Given the description of an element on the screen output the (x, y) to click on. 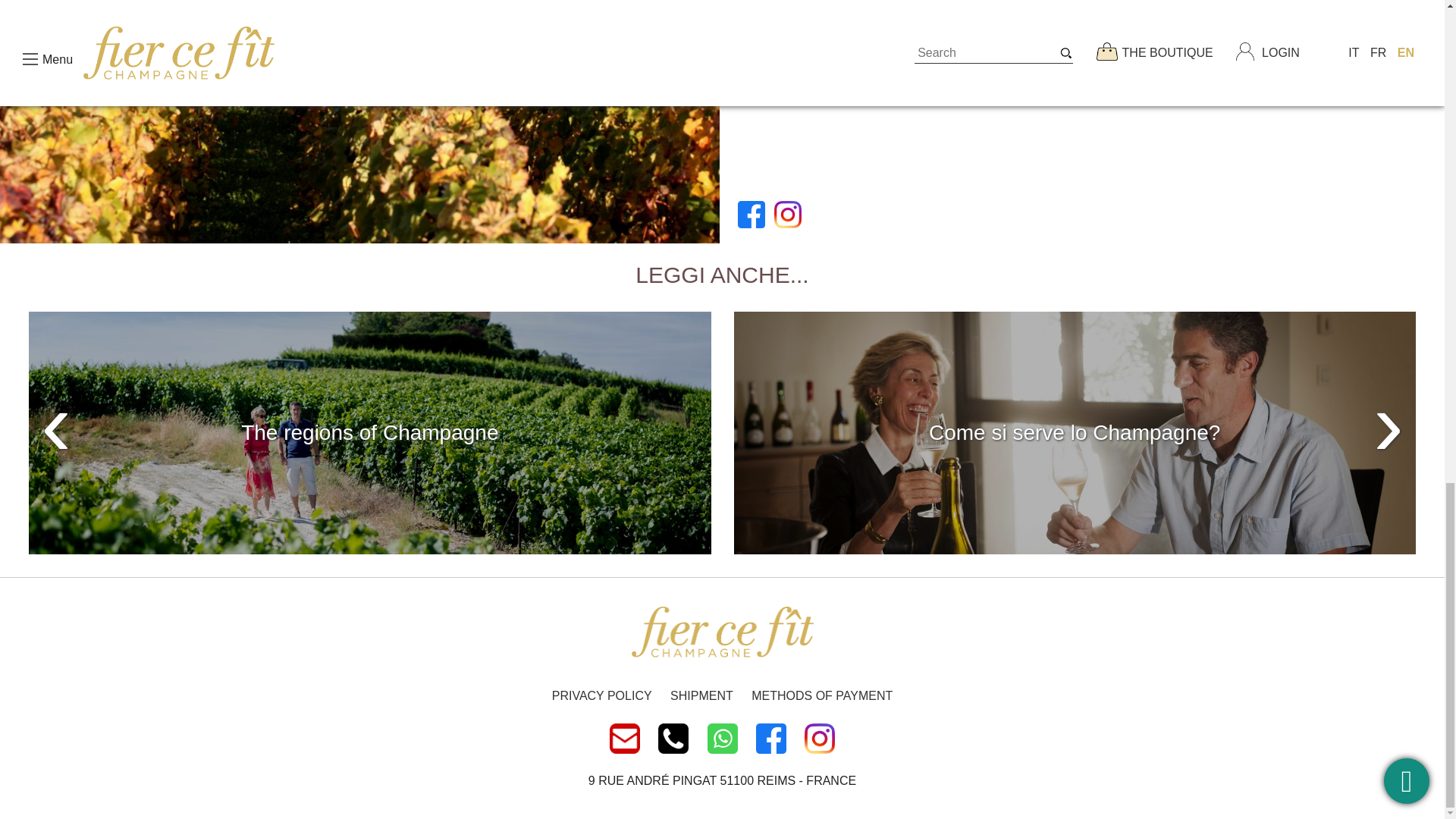
METHODS OF PAYMENT (821, 695)
PRIVACY POLICY (601, 695)
SHIPMENT (701, 695)
